Given the description of an element on the screen output the (x, y) to click on. 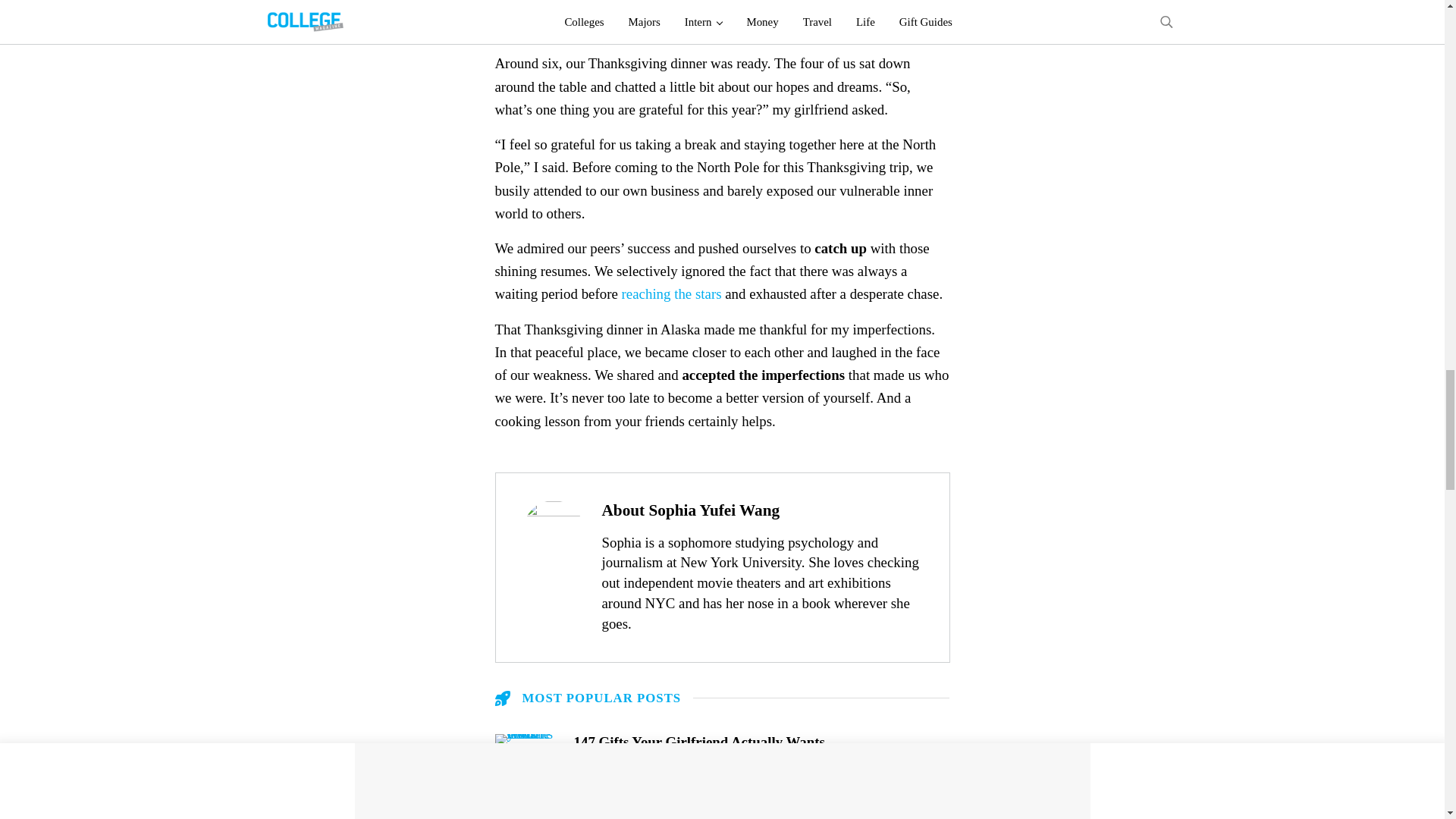
147 Gifts Your Girlfriend Actually Wants (761, 742)
reaching the stars (671, 293)
134 Gifts for Parents That They Actually Want (761, 796)
